Given the description of an element on the screen output the (x, y) to click on. 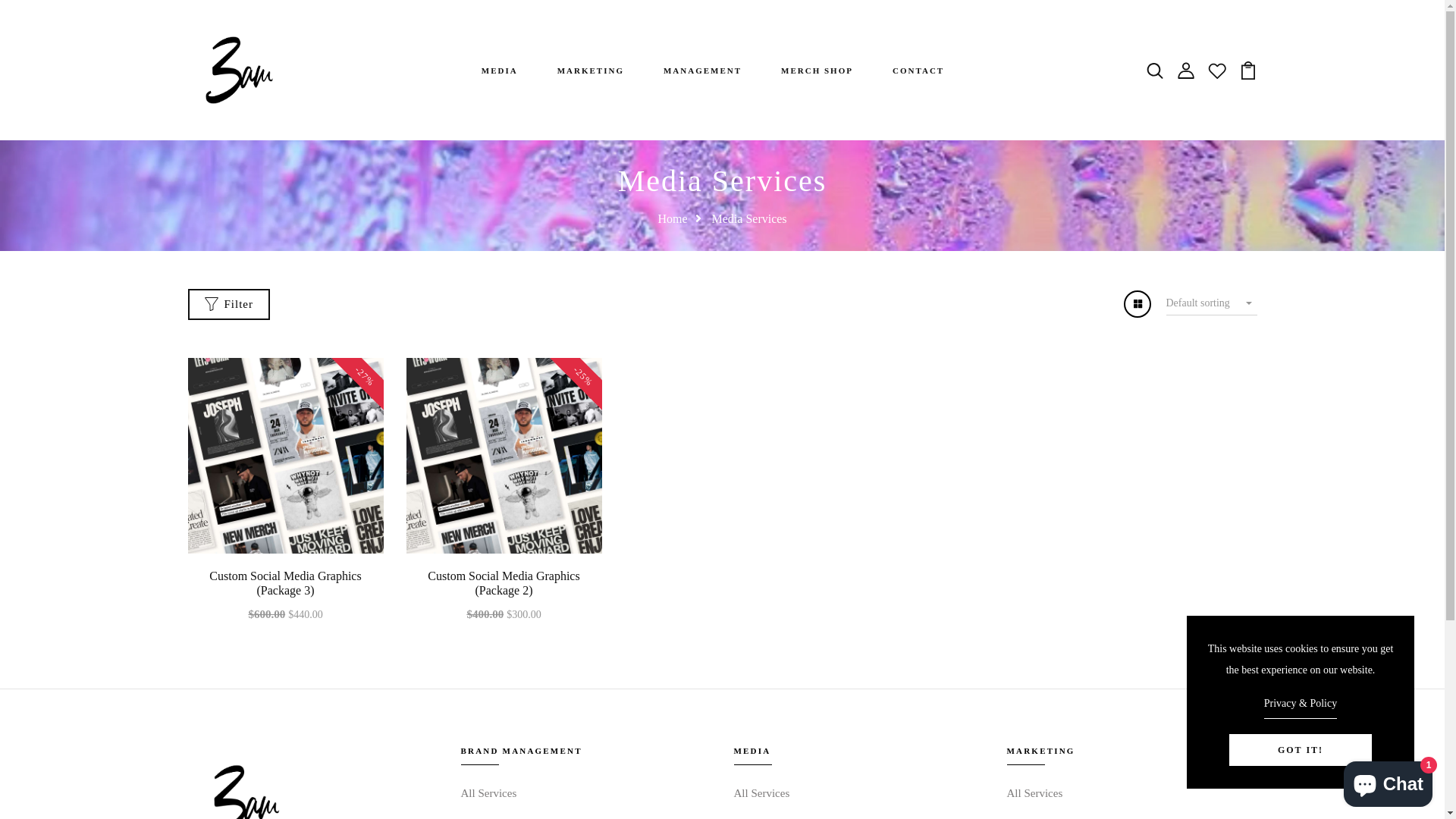
image/svg+xml Element type: text (1248, 68)
MANAGEMENT Element type: text (702, 69)
Default sorting Element type: text (1211, 304)
Custom Social Media Graphics (Package 3) Element type: text (284, 582)
MEDIA Element type: text (499, 69)
image/svg+xml Element type: text (1216, 68)
register Element type: text (722, 733)
CONTACT Element type: text (918, 69)
All Services Element type: text (1035, 793)
MARKETING Element type: text (590, 69)
All Services Element type: text (762, 793)
MERCH SHOP Element type: text (817, 69)
Home Element type: text (682, 218)
Log In Element type: text (722, 471)
image/svg+xml Element type: text (1185, 68)
Filter Element type: text (229, 304)
GOT IT! Element type: text (1300, 749)
Privacy & Policy Element type: text (1300, 705)
Custom Social Media Graphics (Package 2) Element type: text (503, 582)
All Services Element type: text (489, 793)
image/svg+xml Element type: text (1154, 68)
Shopify online store chat Element type: hover (1388, 780)
